Given the description of an element on the screen output the (x, y) to click on. 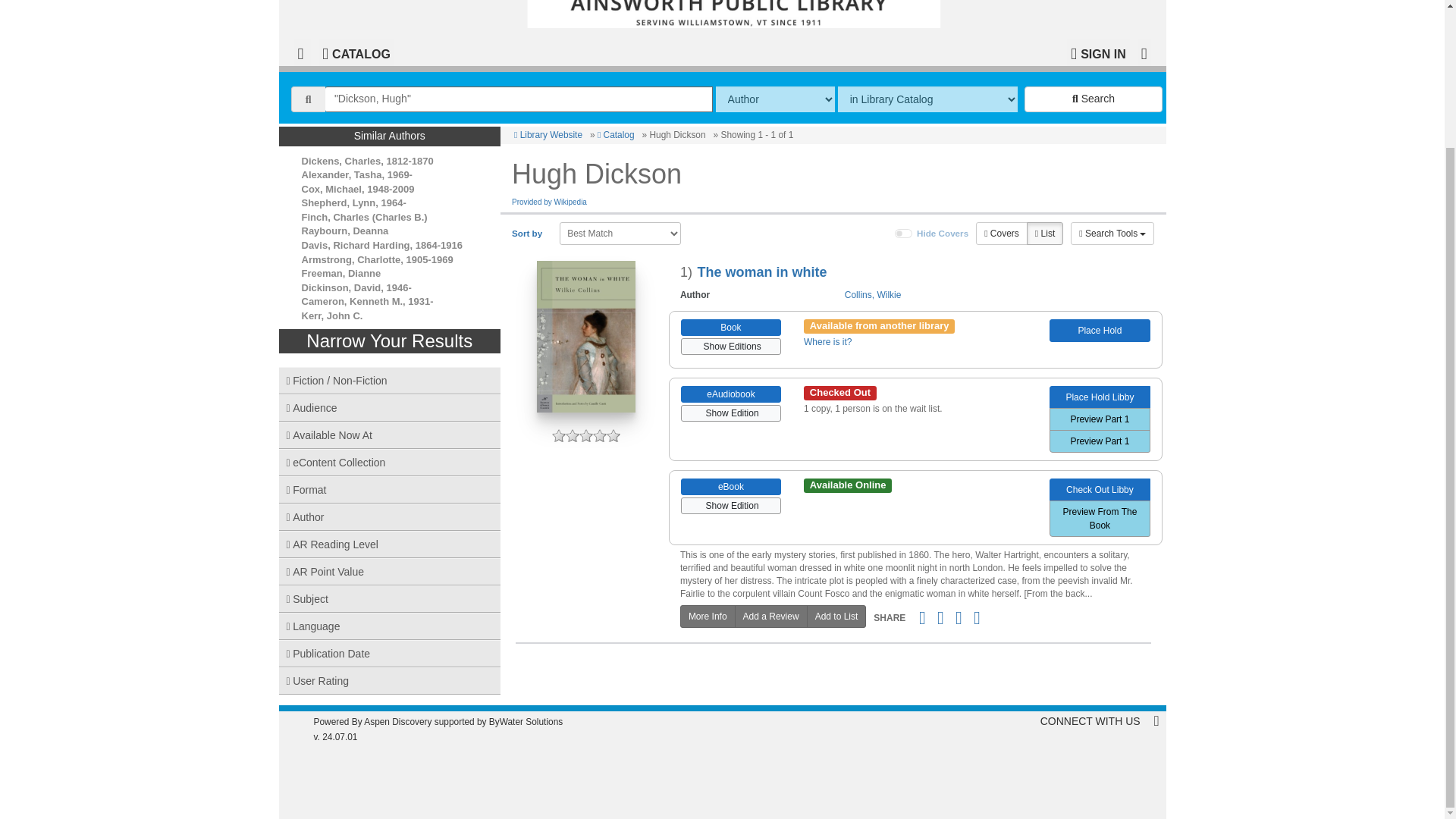
Browse the Catalog (356, 52)
Kerr, John C. (331, 315)
Freeman, Dianne (341, 273)
Armstrong, Charlotte, 1905-1969 (376, 259)
Alexander, Tasha, 1969- (356, 174)
Davis, Richard Harding, 1864-1916 (382, 244)
Raybourn, Deanna (344, 230)
The method of searching. (775, 99)
Return to Catalog Home (737, 13)
